Given the description of an element on the screen output the (x, y) to click on. 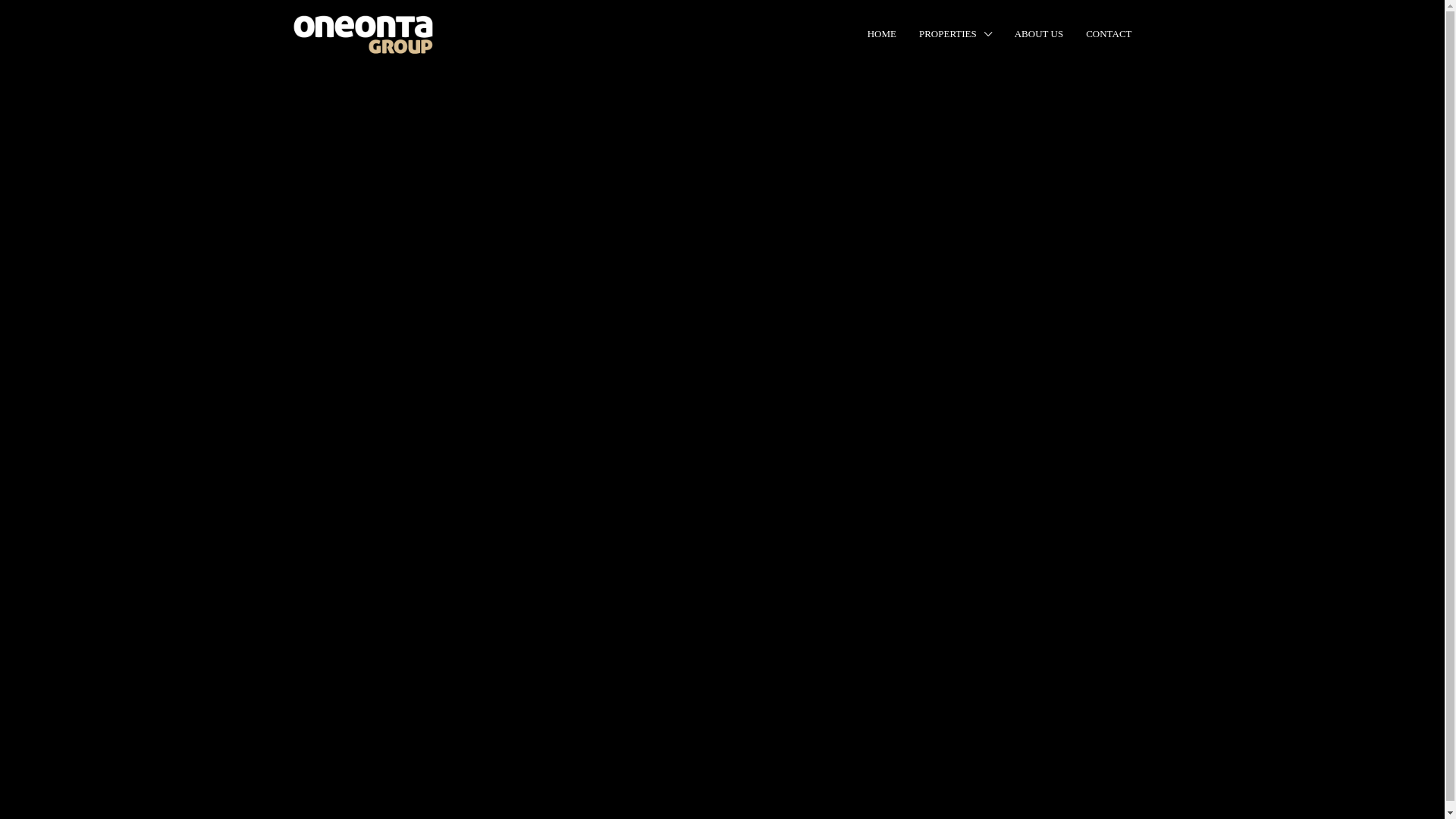
ABOUT US Element type: text (1038, 34)
HOME Element type: text (881, 34)
PROPERTIES Element type: text (955, 34)
CONTACT Element type: text (1108, 34)
